Given the description of an element on the screen output the (x, y) to click on. 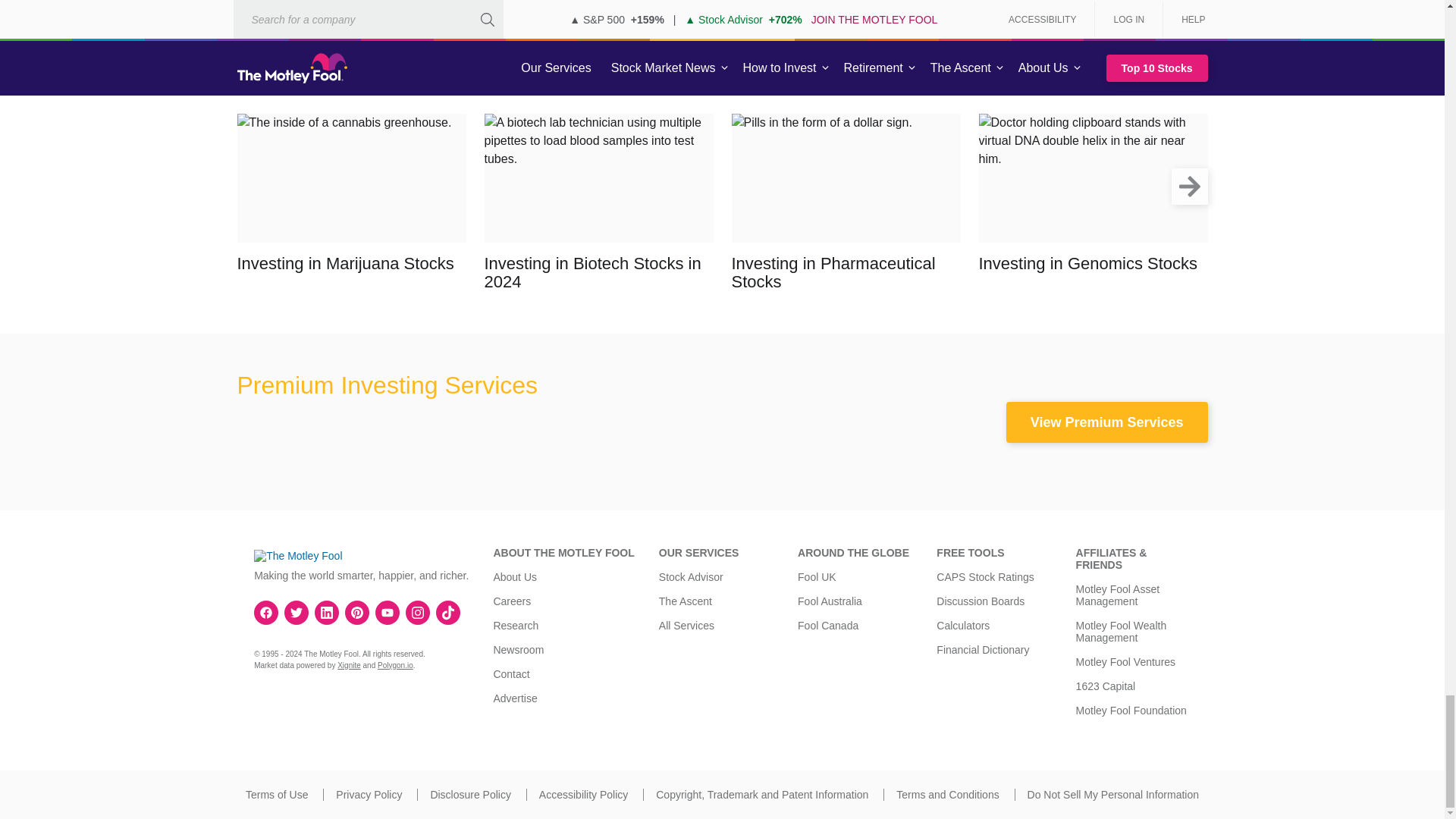
Disclosure Policy (470, 794)
Do Not Sell My Personal Information. (1112, 794)
Privacy Policy (368, 794)
Terms of Use (276, 794)
Terms and Conditions (947, 794)
Accessibility Policy (582, 794)
Copyright, Trademark and Patent Information (761, 794)
